Given the description of an element on the screen output the (x, y) to click on. 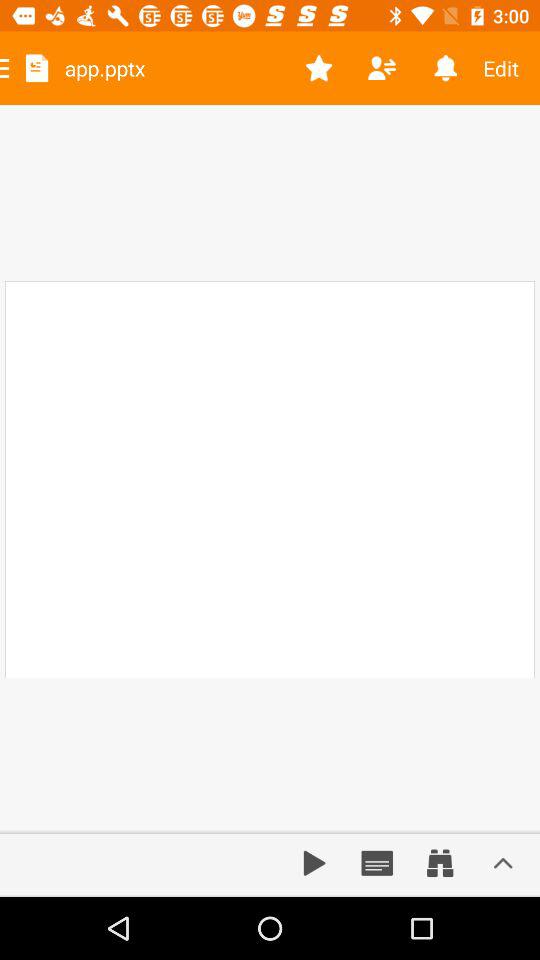
open item (503, 863)
